Given the description of an element on the screen output the (x, y) to click on. 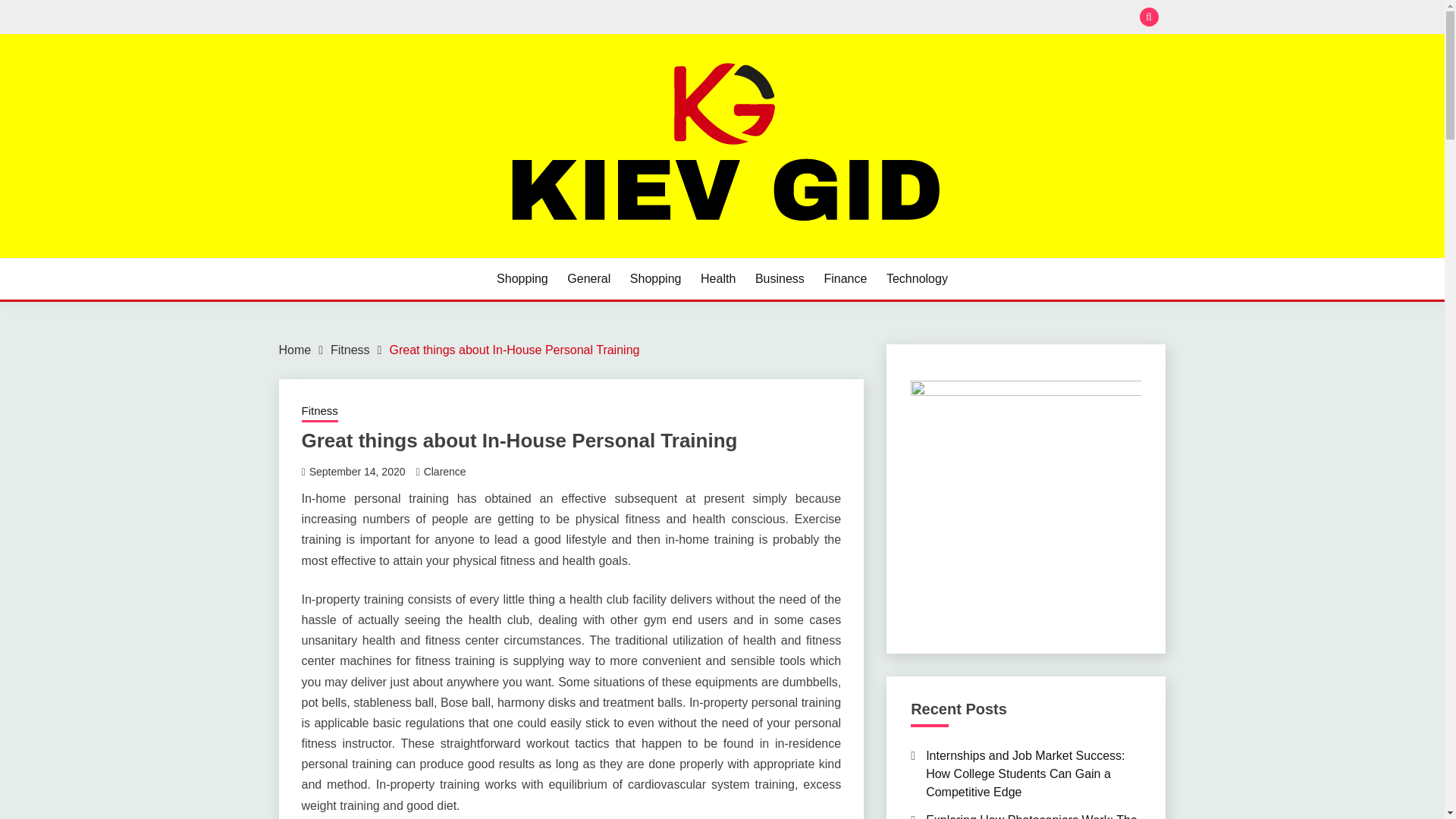
Clarence (444, 471)
Business (780, 279)
Great things about In-House Personal Training (513, 349)
Finance (845, 279)
Home (295, 349)
September 14, 2020 (357, 471)
Technology (916, 279)
Fitness (319, 412)
